Given the description of an element on the screen output the (x, y) to click on. 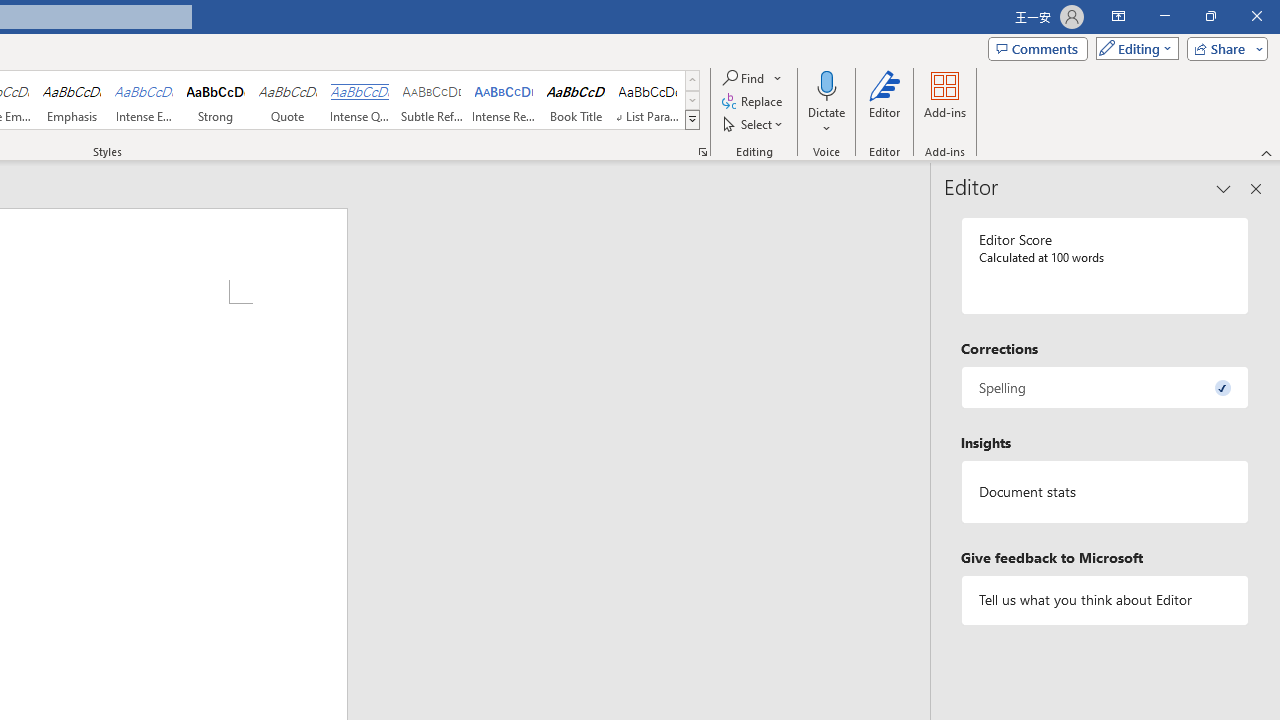
Tell us what you think about Editor (1105, 600)
Intense Emphasis (143, 100)
Emphasis (71, 100)
Spelling, 0 issues. Press space or enter to review items. (1105, 387)
Intense Quote (359, 100)
